Given the description of an element on the screen output the (x, y) to click on. 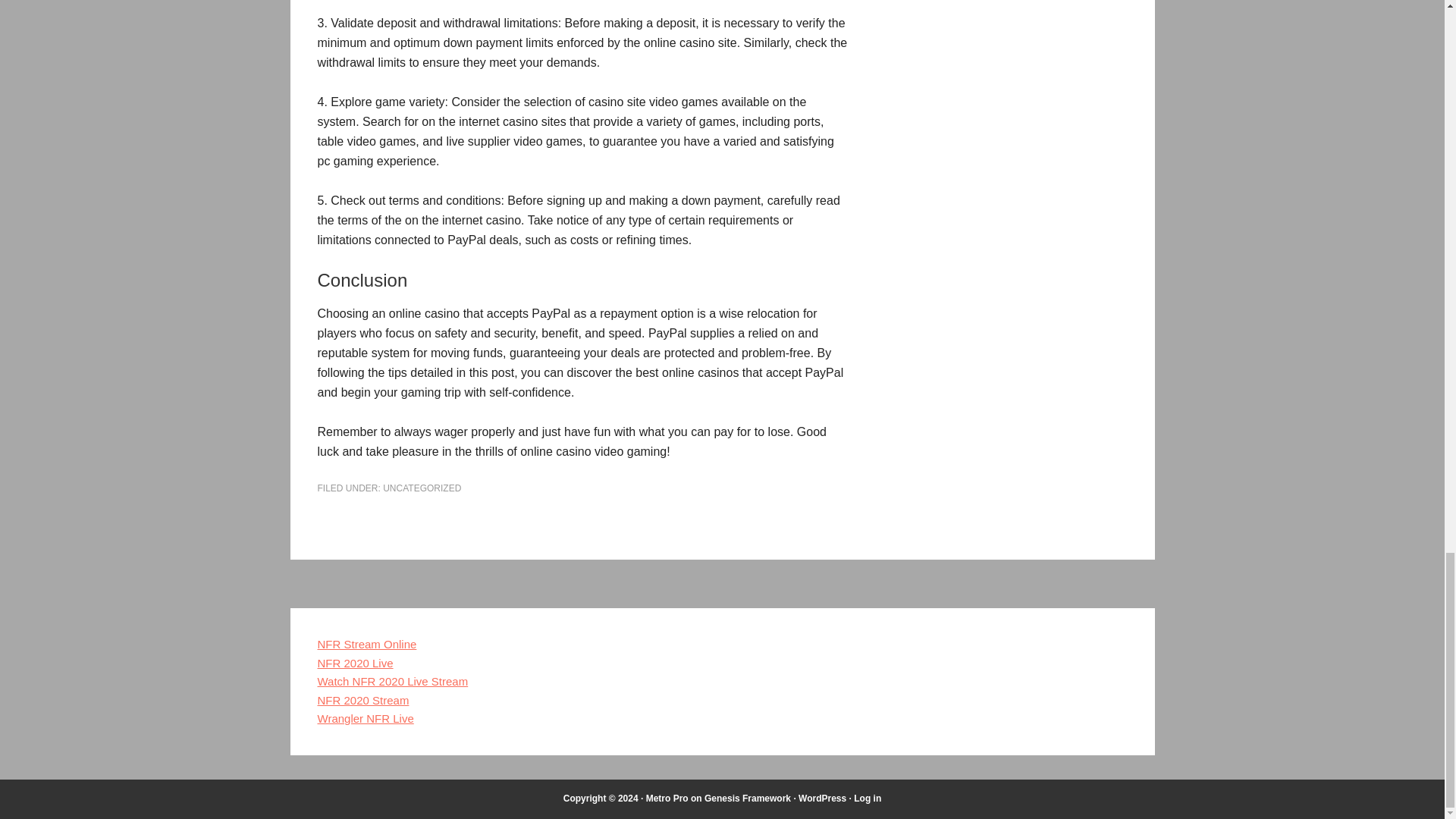
Log in (866, 798)
NFR 2020 Stream (363, 699)
NFR Stream Online (366, 644)
Watch NFR 2020 Live Stream (392, 680)
Metro Pro (667, 798)
UNCATEGORIZED (421, 488)
WordPress (821, 798)
NFR 2020 Live (355, 662)
Genesis Framework (747, 798)
Wrangler NFR Live (365, 717)
